Given the description of an element on the screen output the (x, y) to click on. 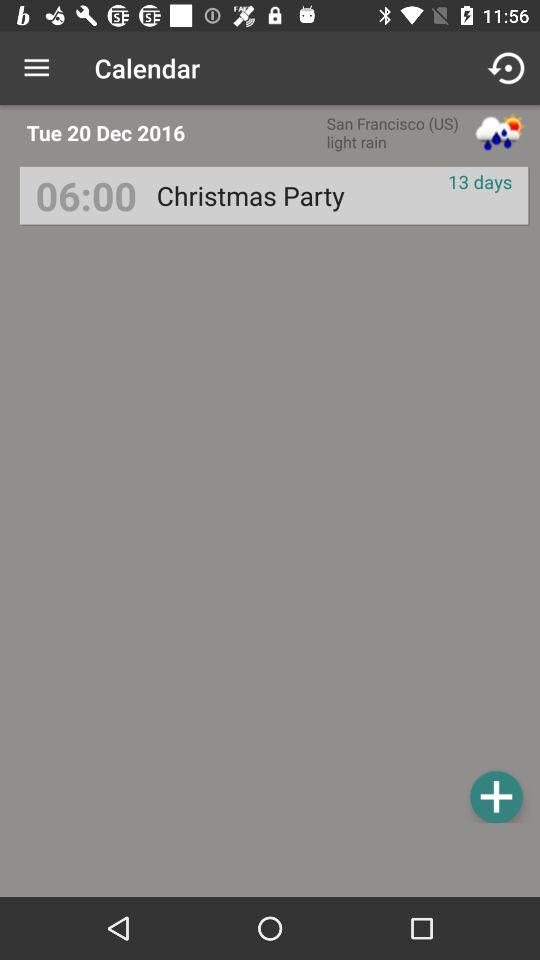
swipe until the christmas party (250, 195)
